Given the description of an element on the screen output the (x, y) to click on. 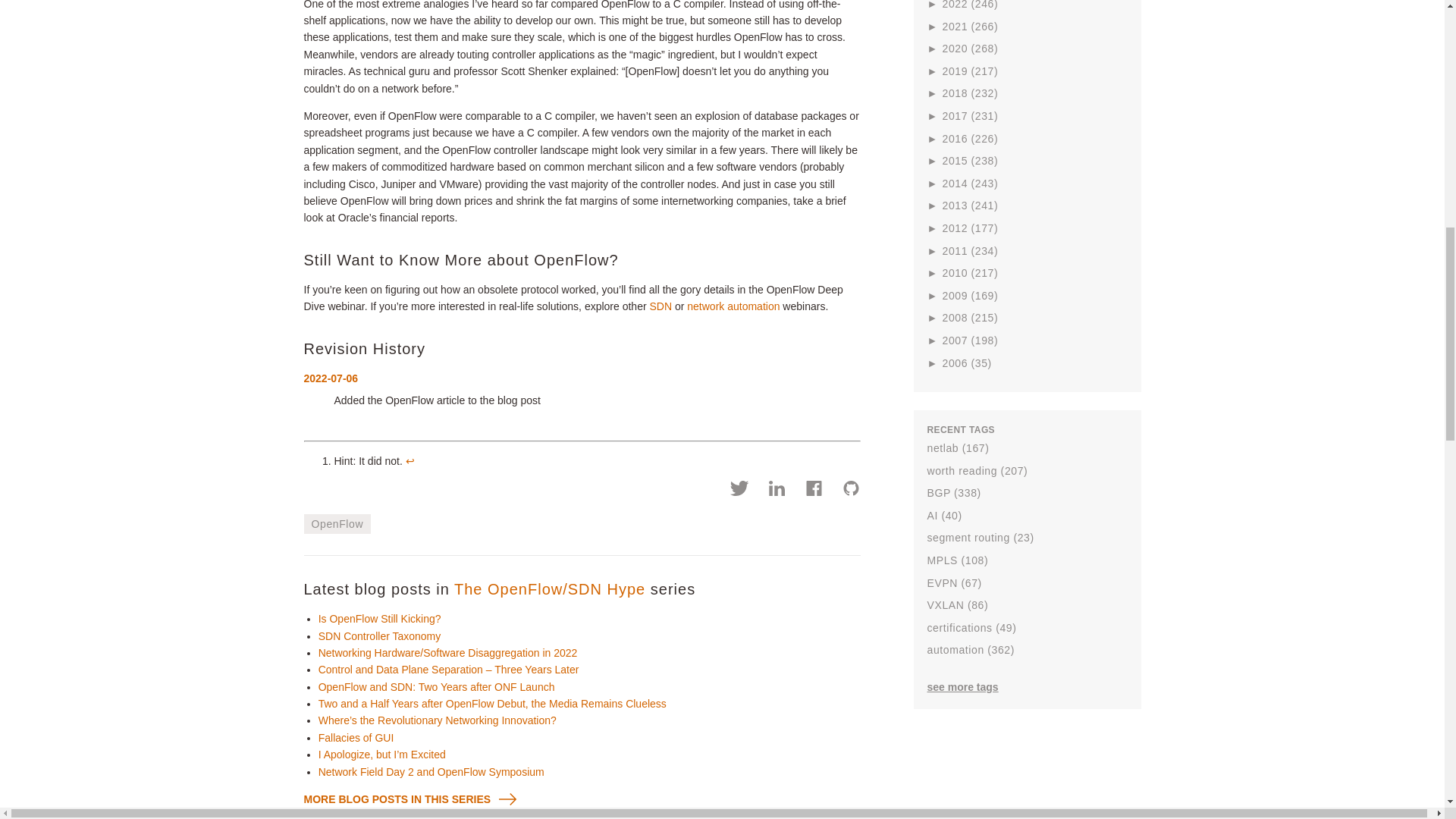
Share to LinkedIn (776, 490)
network automation (732, 306)
Share to Facebook (814, 490)
Share to Twitter (739, 490)
SDN (660, 306)
GitHub Source (850, 490)
